Given the description of an element on the screen output the (x, y) to click on. 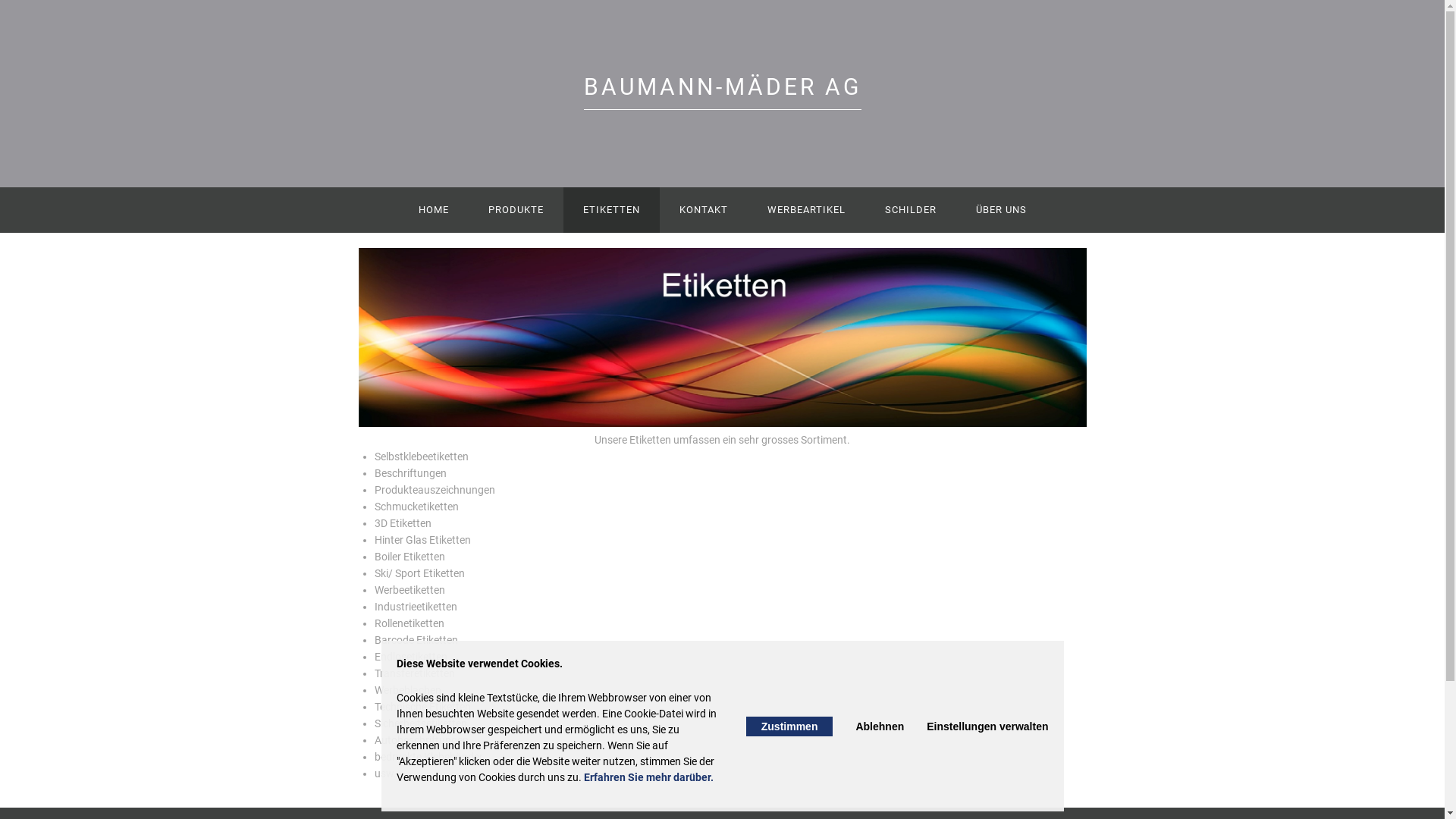
Einstellungen verwalten Element type: text (987, 725)
Ablehnen Element type: text (879, 725)
ETIKETTEN Element type: text (610, 209)
KONTAKT Element type: text (703, 209)
Zustimmen Element type: text (789, 725)
WERBEARTIKEL Element type: text (806, 209)
SCHILDER Element type: text (909, 209)
PRODUKTE Element type: text (515, 209)
HOME Element type: text (433, 209)
